Given the description of an element on the screen output the (x, y) to click on. 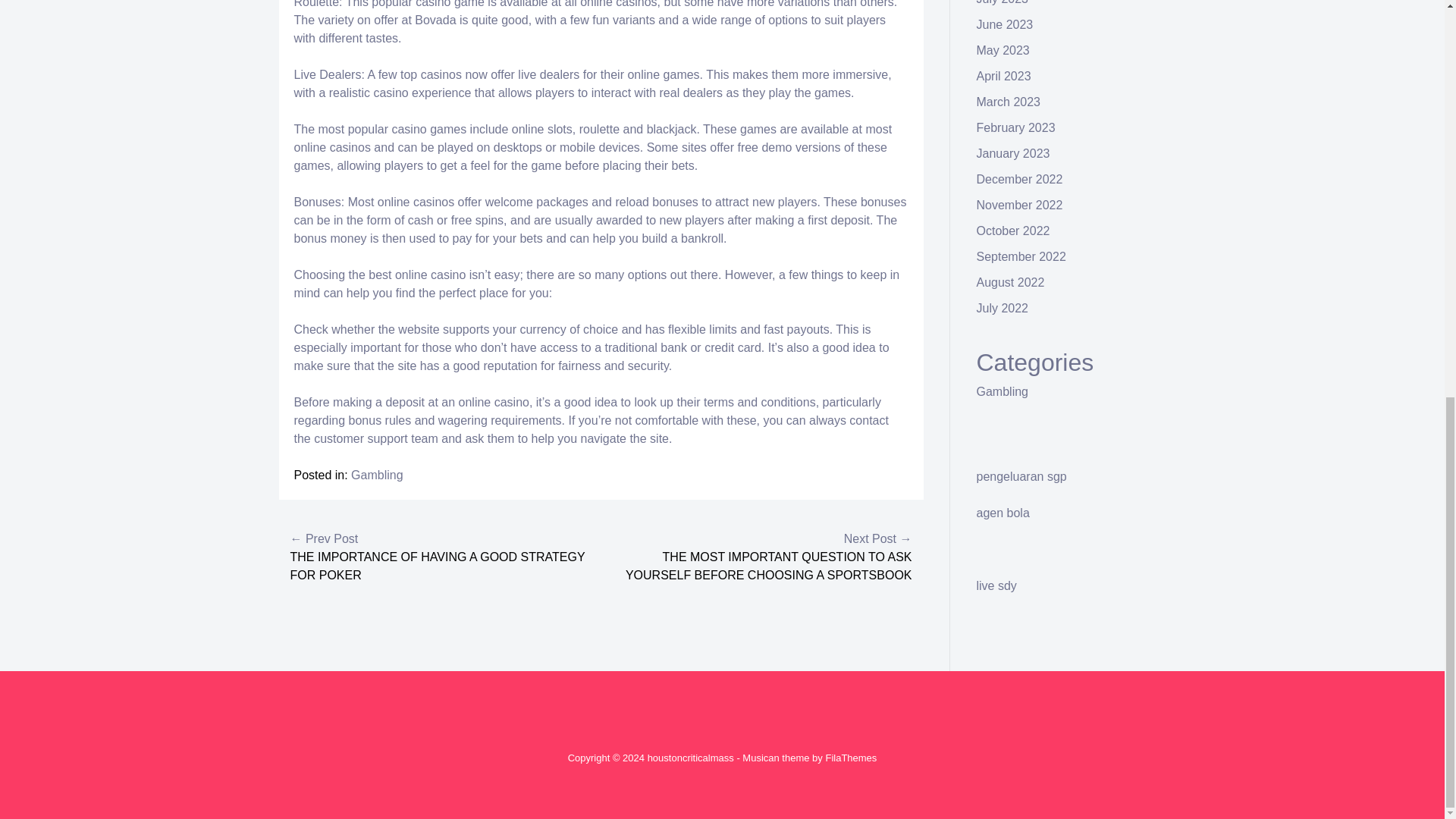
March 2023 (1008, 101)
July 2023 (1002, 2)
December 2022 (1019, 178)
November 2022 (1019, 205)
April 2023 (1003, 75)
February 2023 (1015, 127)
August 2022 (1010, 282)
June 2023 (1004, 24)
September 2022 (1020, 256)
Gambling (1001, 391)
July 2022 (1002, 308)
May 2023 (1002, 50)
January 2023 (1012, 153)
October 2022 (1012, 230)
houstoncriticalmass (690, 757)
